Given the description of an element on the screen output the (x, y) to click on. 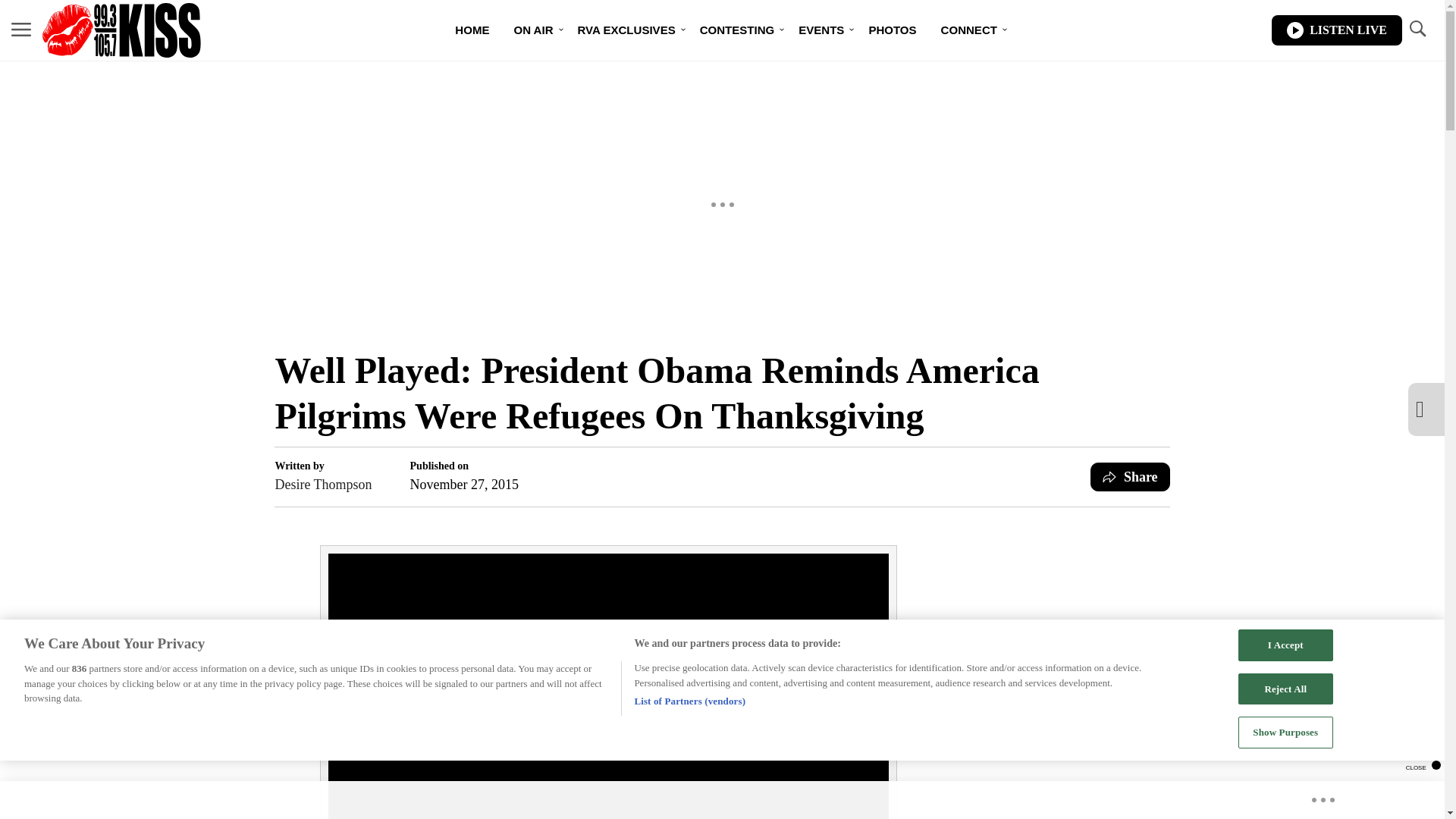
LISTEN LIVE (1336, 30)
EVENTS (821, 30)
CONNECT (968, 30)
CONTESTING (737, 30)
RVA EXCLUSIVES (626, 30)
MENU (20, 29)
TOGGLE SEARCH (1417, 28)
MENU (20, 30)
TOGGLE SEARCH (1417, 30)
ON AIR (532, 30)
PHOTOS (892, 30)
HOME (471, 30)
